Given the description of an element on the screen output the (x, y) to click on. 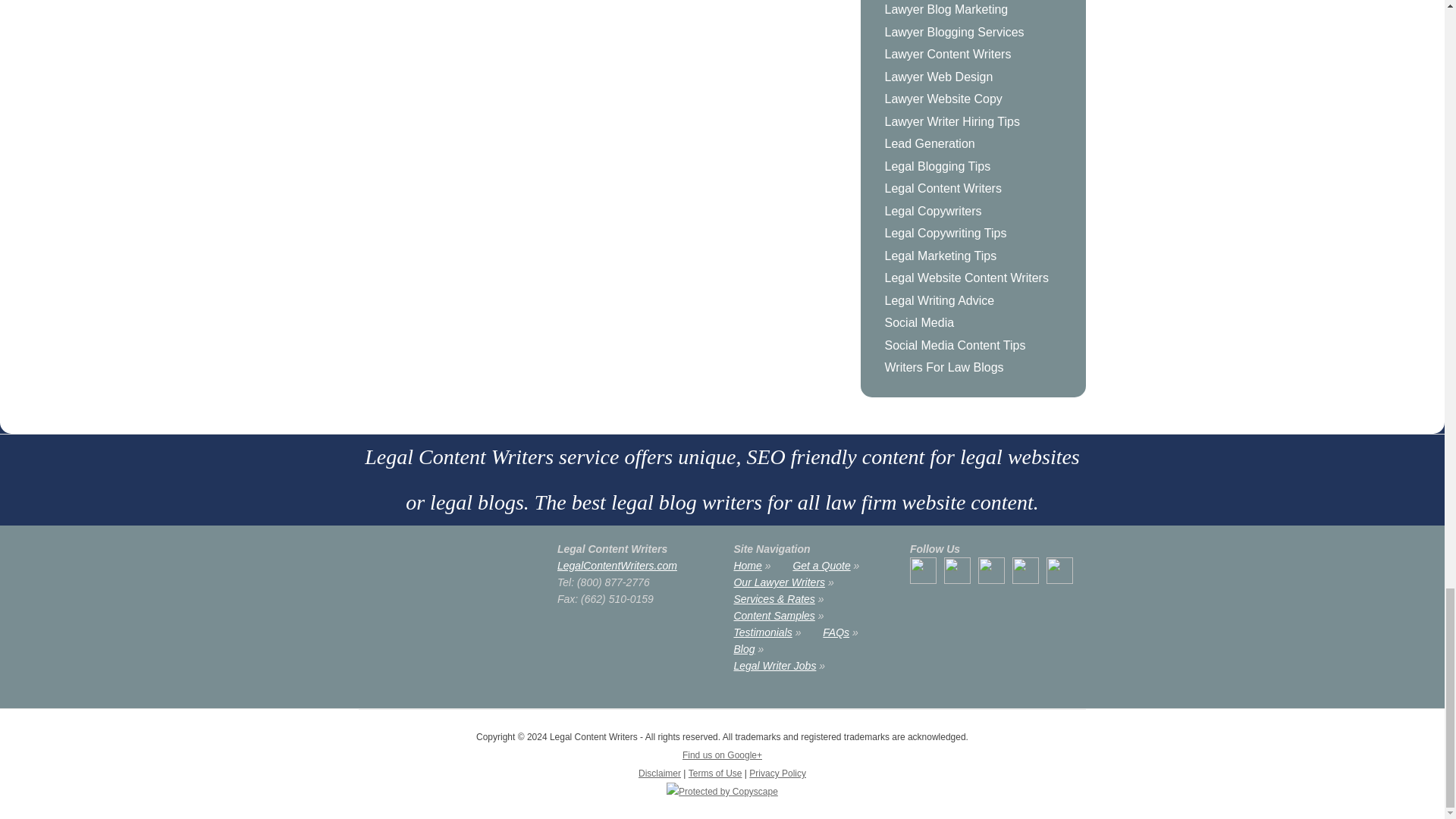
Lawyer Blogging Services (980, 32)
Lawyer Blog Marketing (980, 10)
Lead Generation (980, 143)
Lawyer Writer Hiring Tips (980, 121)
Lawyer Content Writers (980, 54)
Lawyer Website Copy (980, 98)
Lawyer Web Design (980, 77)
